Given the description of an element on the screen output the (x, y) to click on. 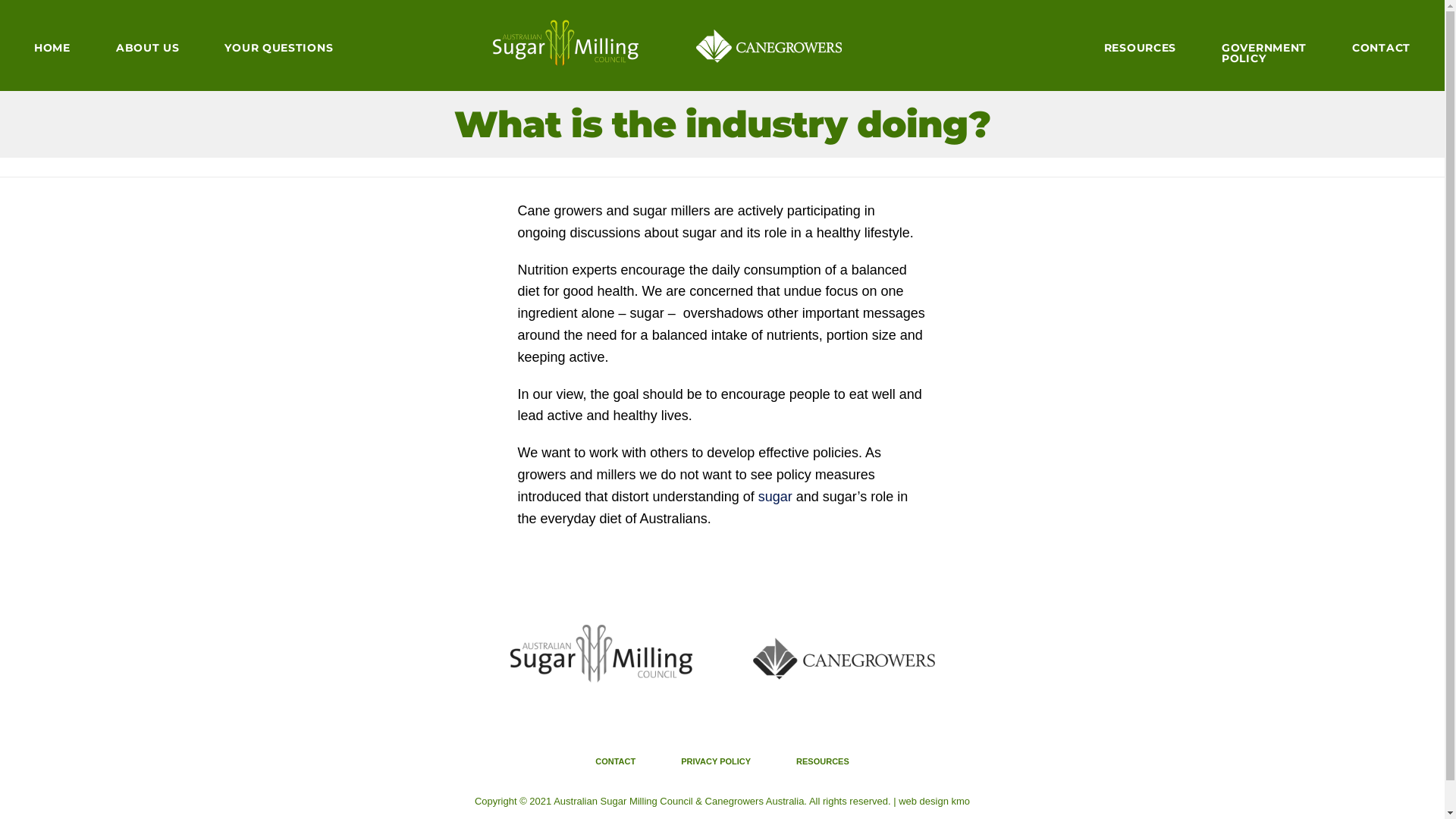
CONTACT Element type: text (615, 760)
kmo Element type: text (960, 800)
sugar Element type: text (775, 496)
RESOURCES Element type: text (822, 760)
RESOURCES Element type: text (1139, 45)
HOME Element type: text (52, 45)
PRIVACY POLICY Element type: text (715, 760)
YOUR QUESTIONS Element type: text (278, 45)
ABOUT US Element type: text (147, 45)
GOVERNMENT
POLICY Element type: text (1263, 50)
CONTACT Element type: text (1381, 45)
